Given the description of an element on the screen output the (x, y) to click on. 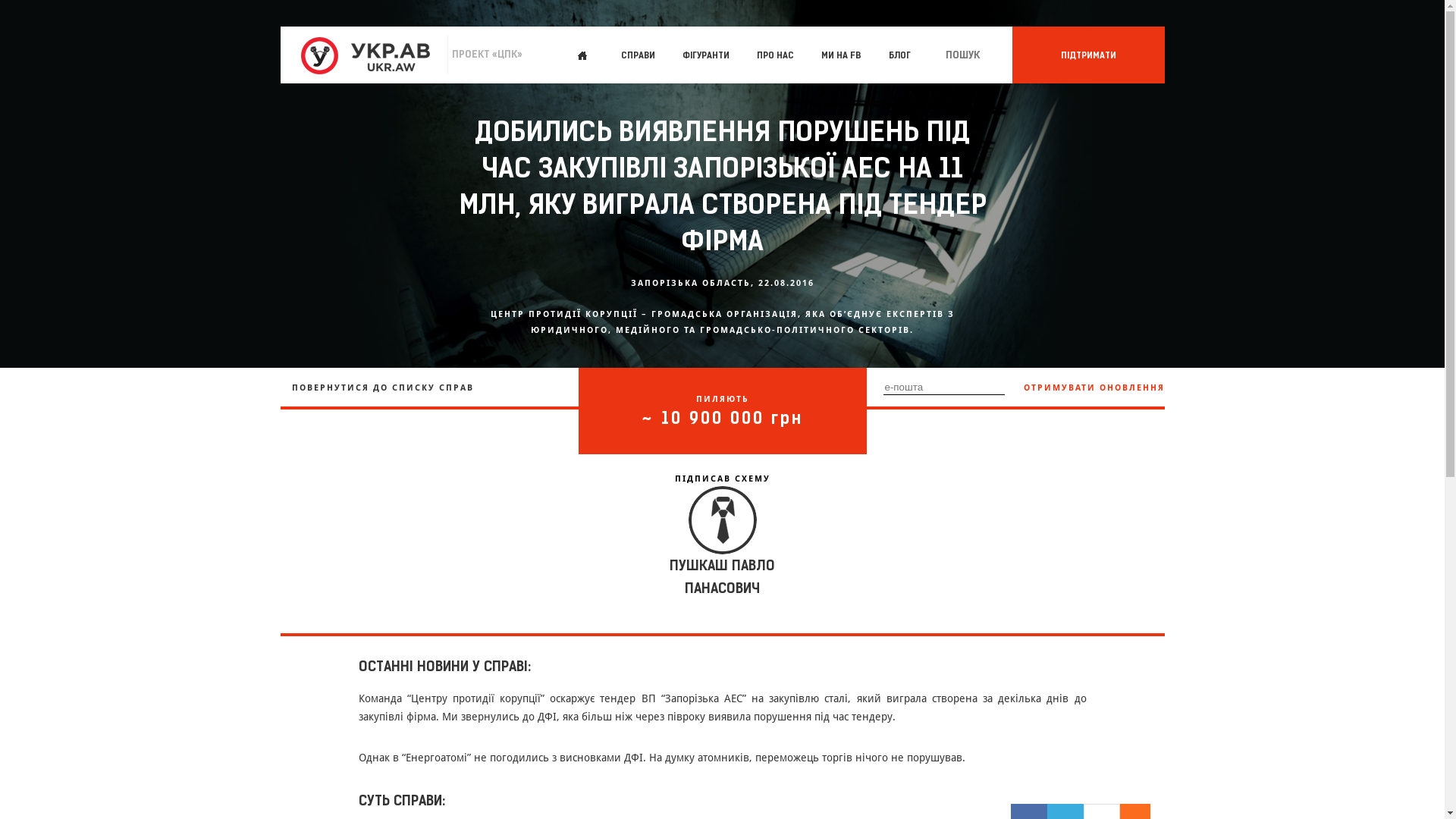
Hide Element type: hover (1142, 811)
